Given the description of an element on the screen output the (x, y) to click on. 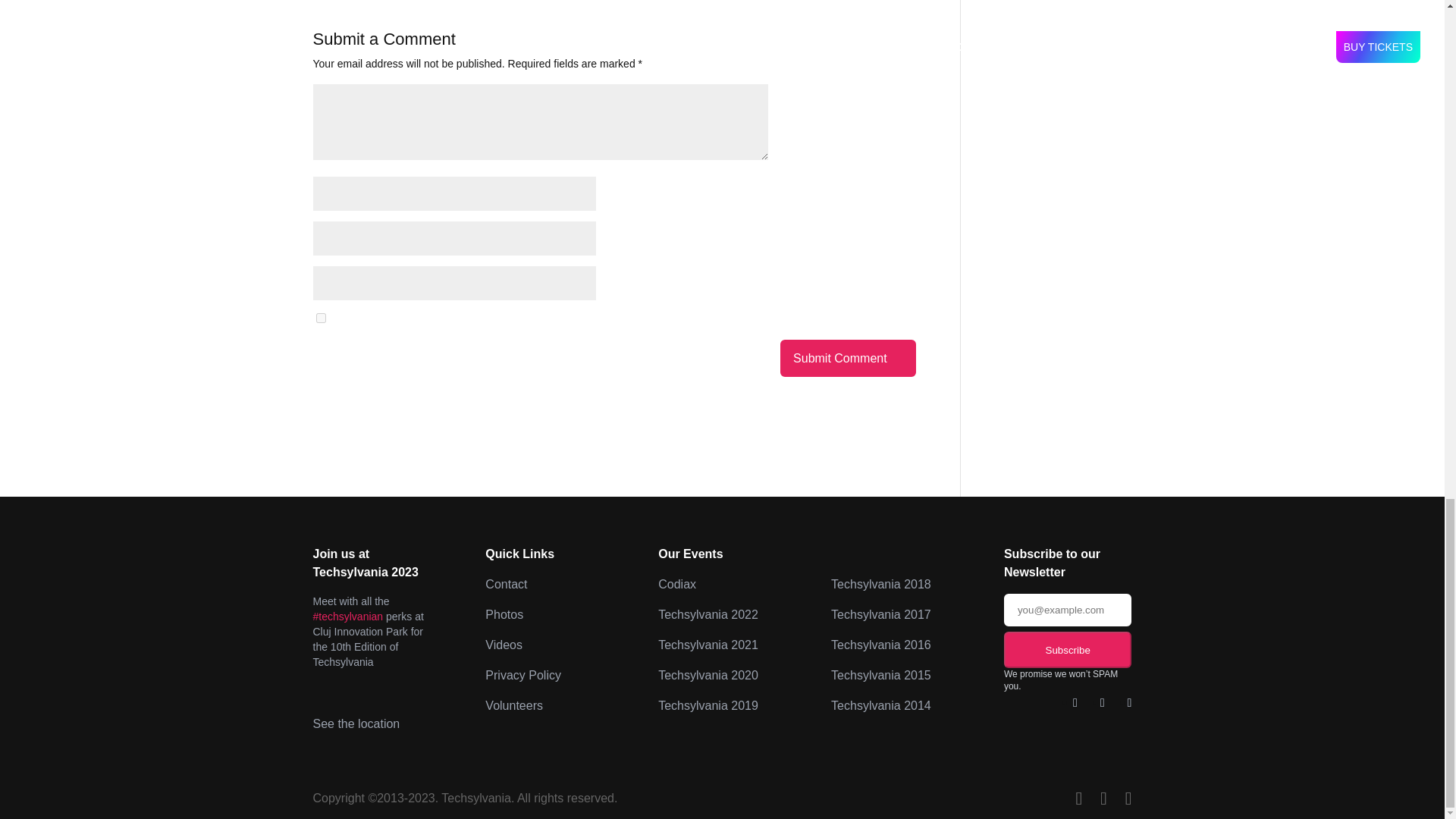
Subscribe (1067, 649)
Submit Comment (847, 357)
yes (319, 317)
